Given the description of an element on the screen output the (x, y) to click on. 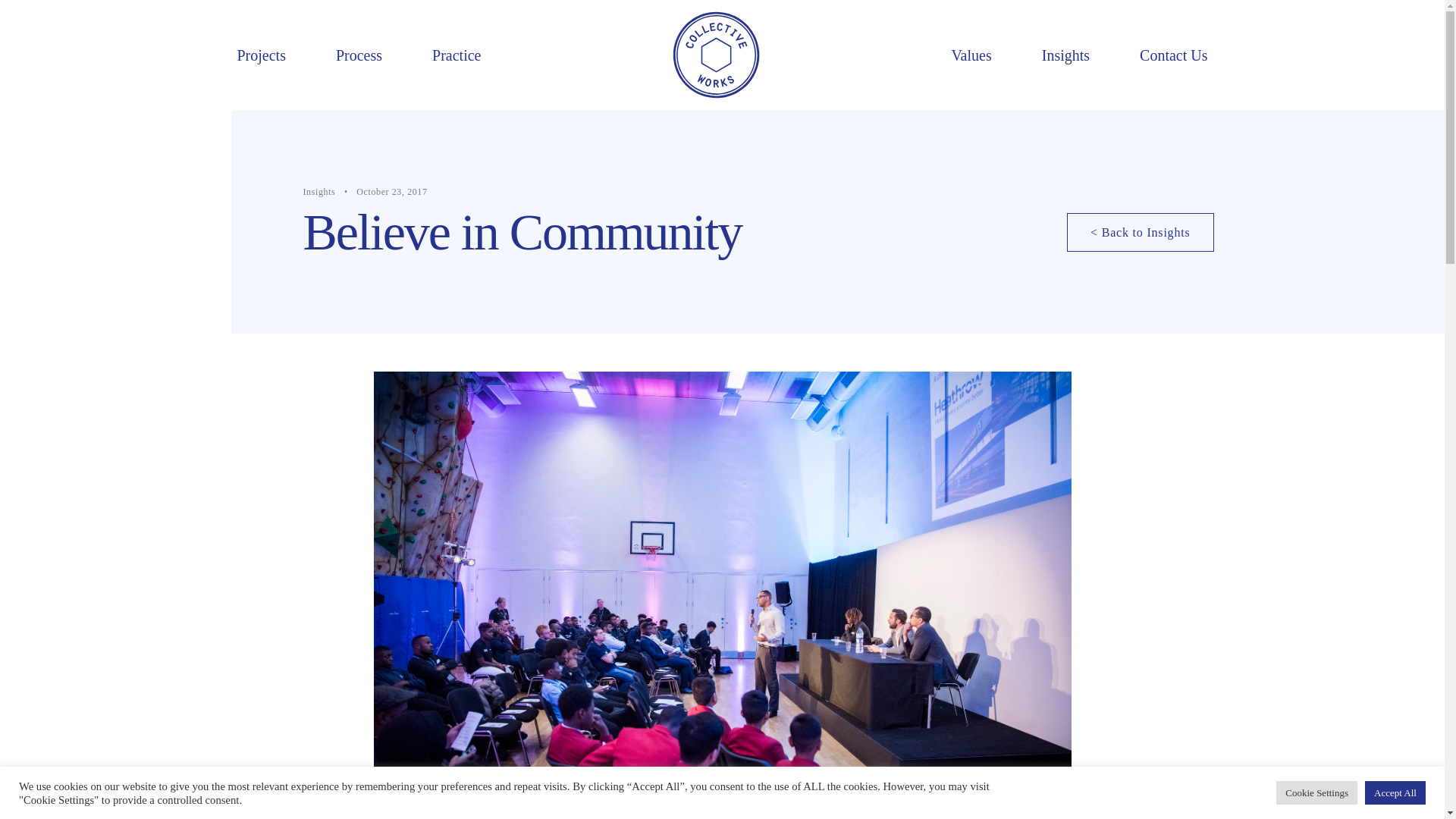
Cookie Settings (1316, 792)
Insights (1065, 54)
Process (359, 54)
Practice (456, 54)
Projects (260, 54)
Contact Us (1173, 54)
Values (970, 54)
Accept All (1395, 792)
